Given the description of an element on the screen output the (x, y) to click on. 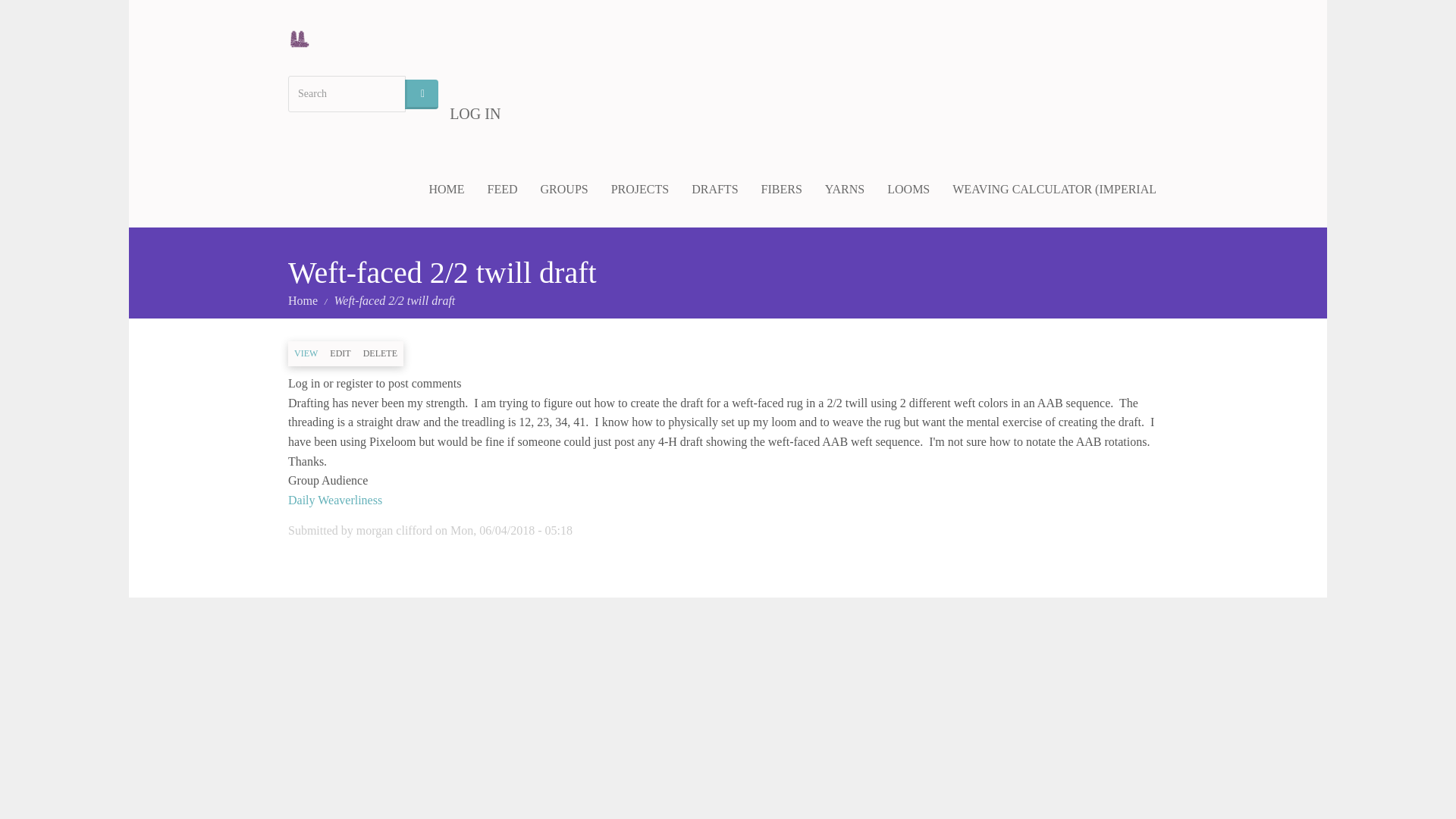
FIBERS (781, 189)
Yarns, commercial and handspun in the community (844, 189)
Home (302, 300)
YARNS (844, 189)
GROUPS (564, 189)
register (354, 382)
DELETE (379, 353)
Monday, June 4, 2018 - 05:18 (510, 530)
Home (304, 38)
DRAFTS (714, 189)
Daily Weaverliness (334, 499)
